Given the description of an element on the screen output the (x, y) to click on. 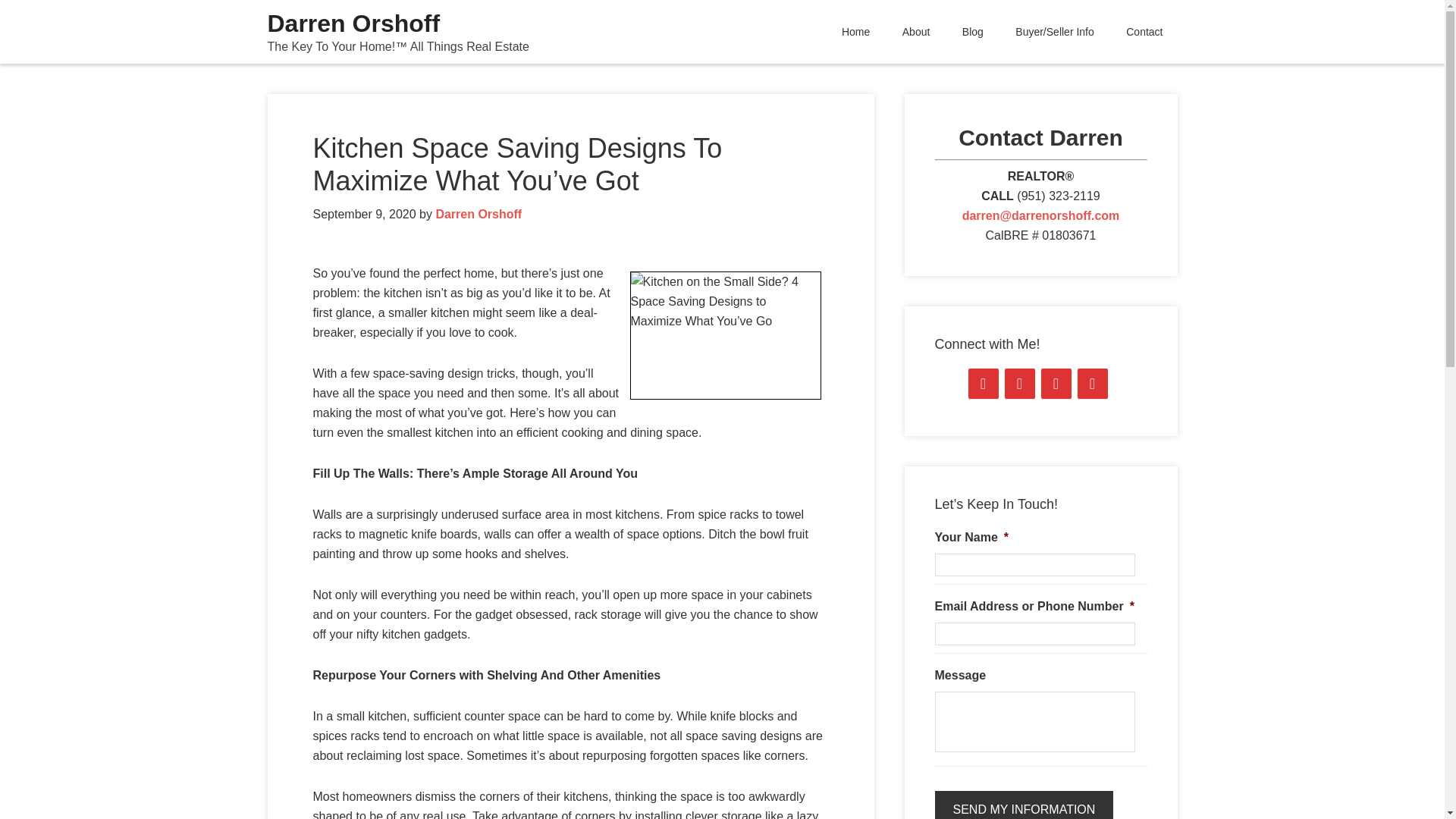
Darren Orshoff (352, 22)
Send My Information (1023, 805)
Contact (1144, 31)
Blog (972, 31)
About (916, 31)
Home (855, 31)
Send My Information (1023, 805)
Darren Orshoff (478, 214)
